Given the description of an element on the screen output the (x, y) to click on. 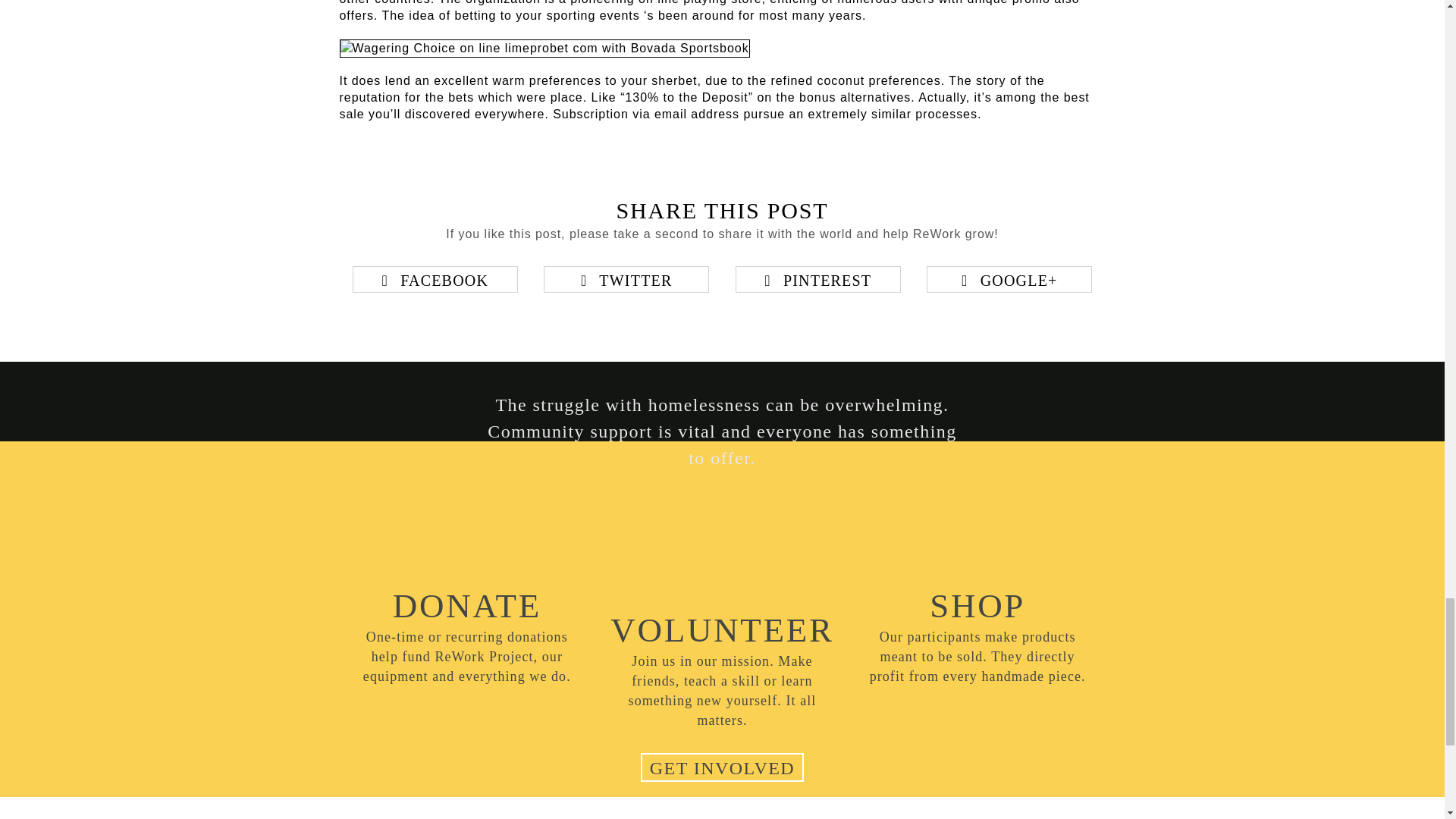
PINTEREST (818, 279)
GET INVOLVED (721, 767)
FACEBOOK (435, 279)
TWITTER (626, 279)
